Given the description of an element on the screen output the (x, y) to click on. 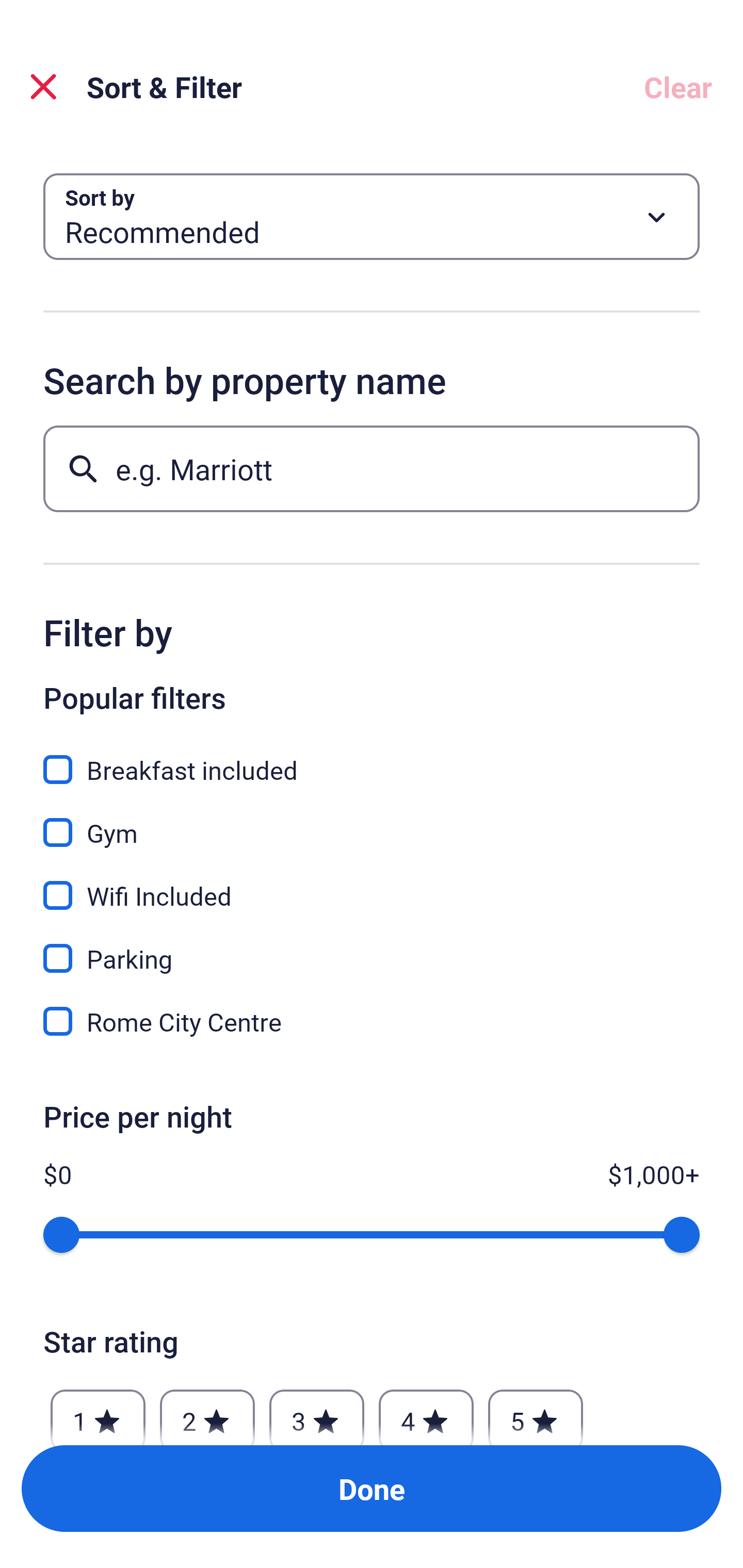
Close Sort and Filter (43, 86)
Clear (677, 86)
Sort by Button Recommended (371, 217)
e.g. Marriott Button (371, 468)
Breakfast included, Breakfast included (371, 757)
Gym, Gym (371, 821)
Wifi Included, Wifi Included (371, 883)
Parking, Parking (371, 946)
Rome City Centre, Rome City Centre (371, 1021)
1 (97, 1411)
2 (206, 1411)
3 (316, 1411)
4 (426, 1411)
5 (535, 1411)
Apply and close Sort and Filter Done (371, 1488)
